Given the description of an element on the screen output the (x, y) to click on. 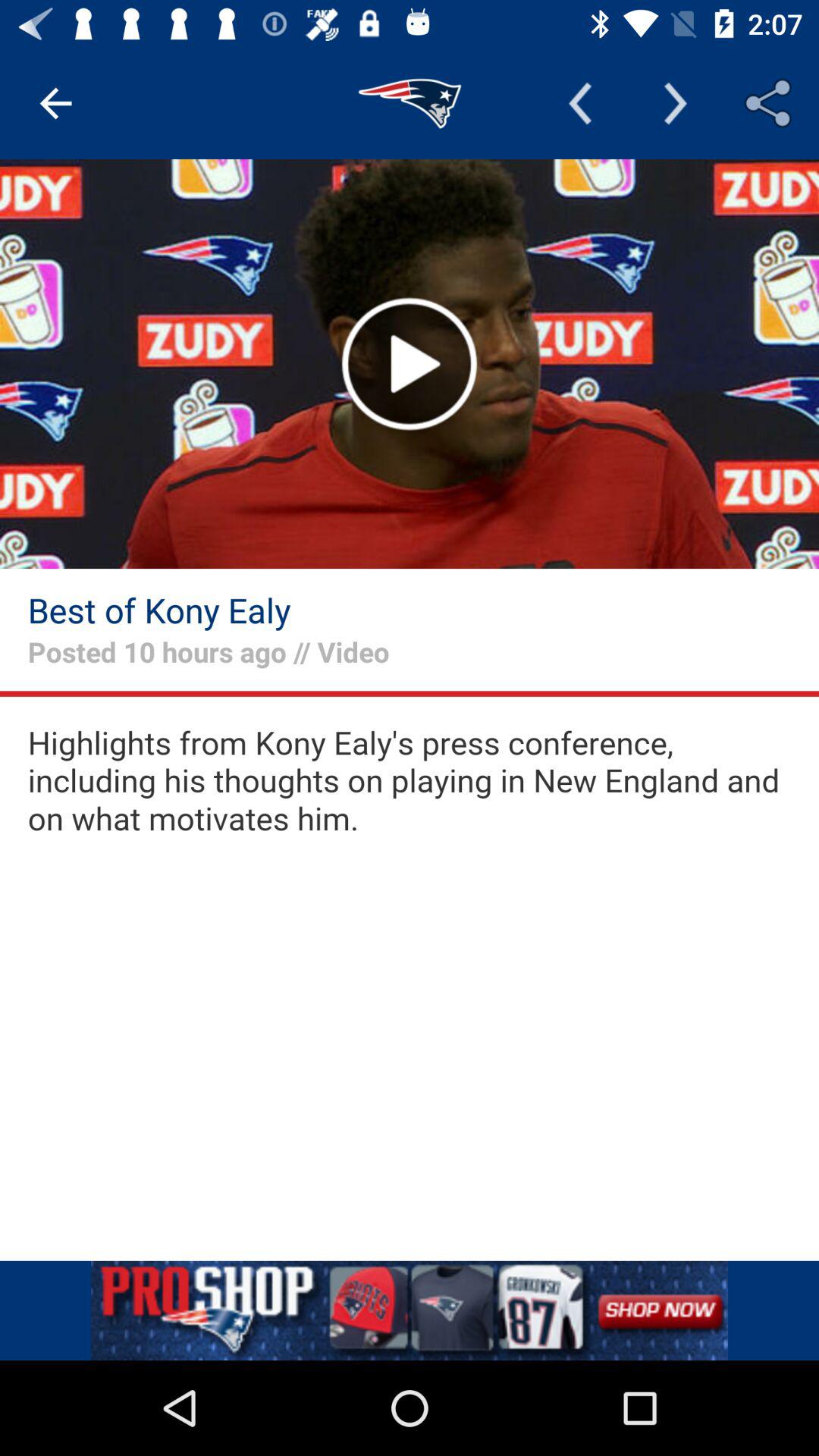
play video (409, 363)
